Given the description of an element on the screen output the (x, y) to click on. 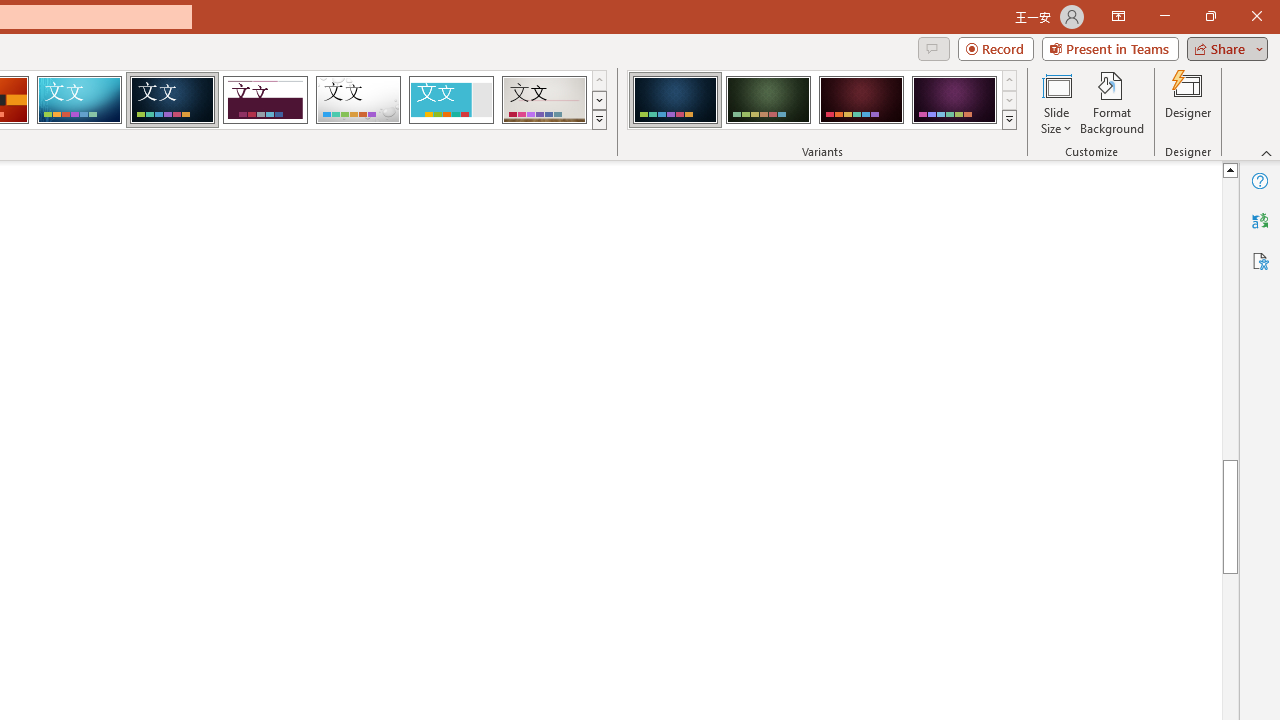
AutomationID: ThemeVariantsGallery (822, 99)
Damask Variant 3 (861, 100)
Frame (450, 100)
Variants (1009, 120)
Damask (171, 100)
